Given the description of an element on the screen output the (x, y) to click on. 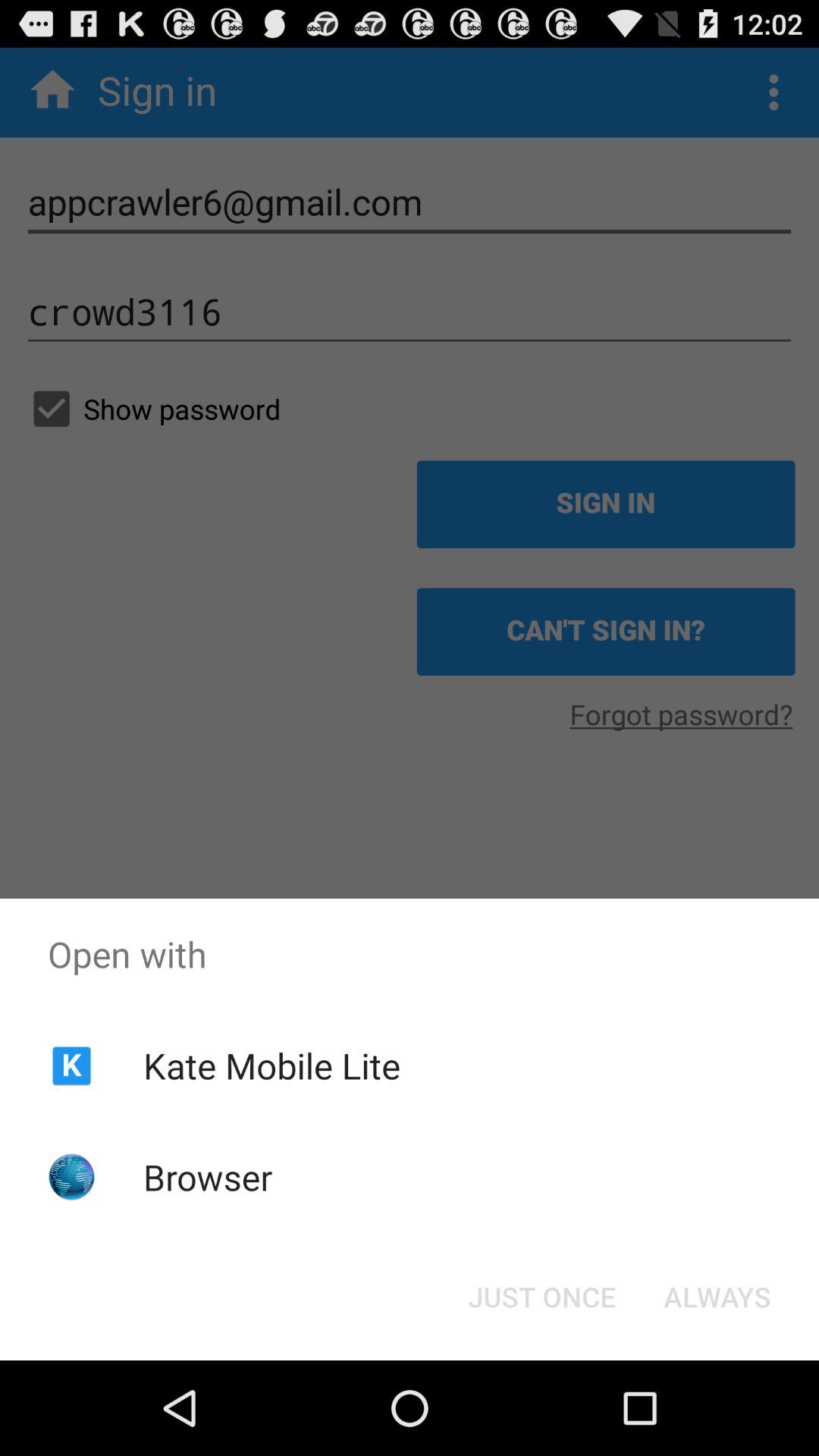
choose the button next to just once item (717, 1296)
